Given the description of an element on the screen output the (x, y) to click on. 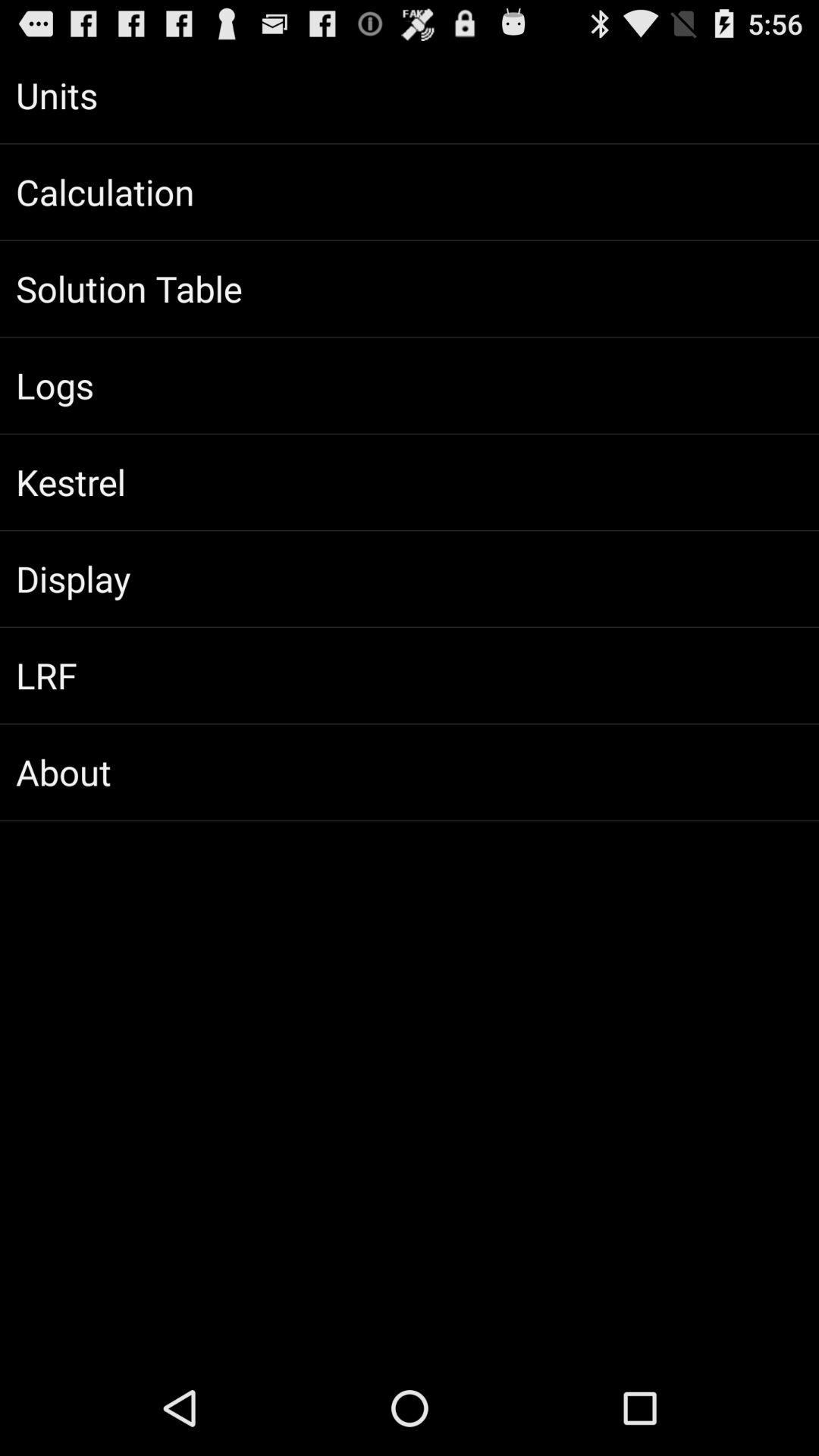
flip to the about item (409, 772)
